Given the description of an element on the screen output the (x, y) to click on. 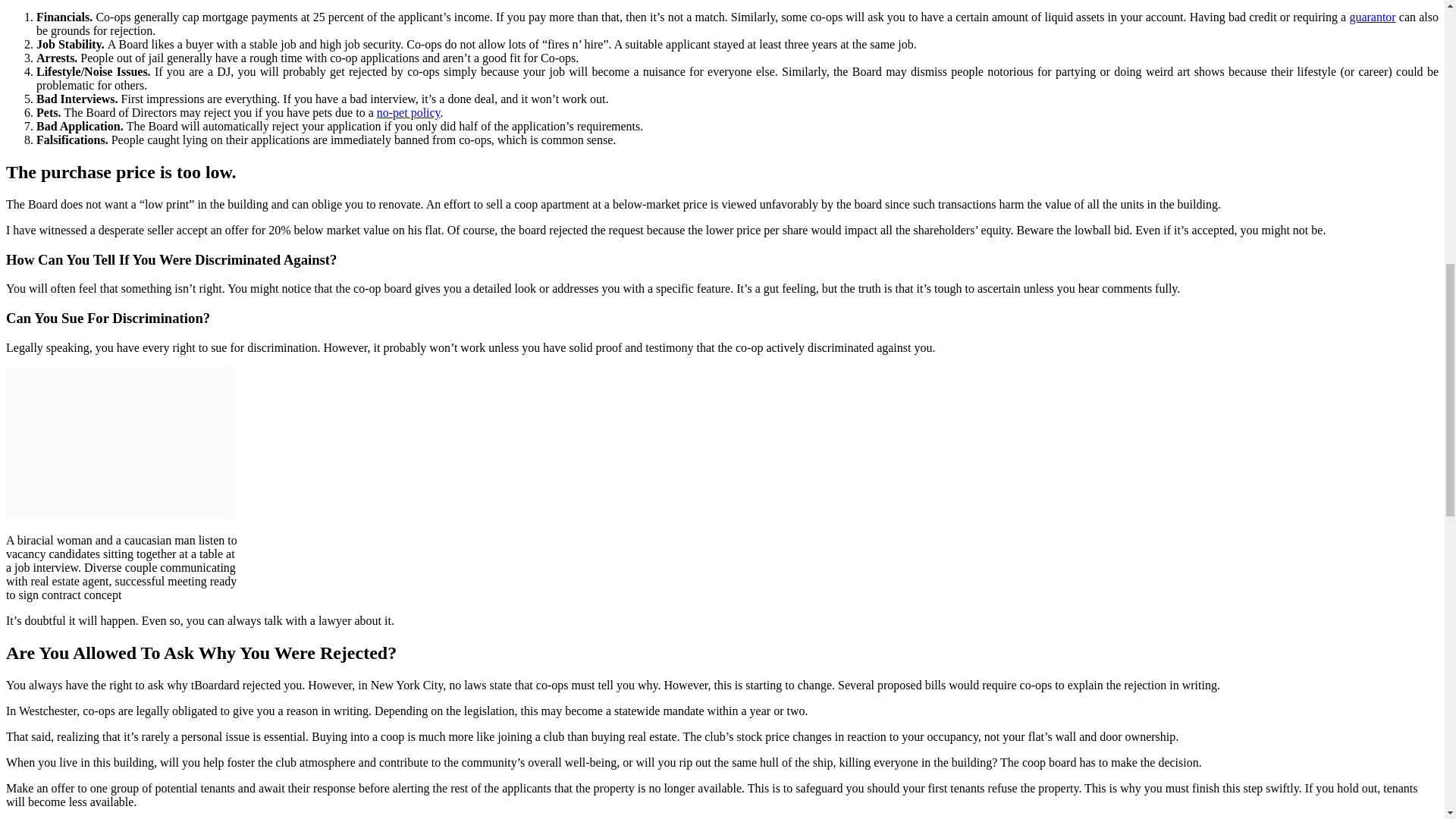
guarantor (1371, 16)
no-pet policy (409, 112)
